Given the description of an element on the screen output the (x, y) to click on. 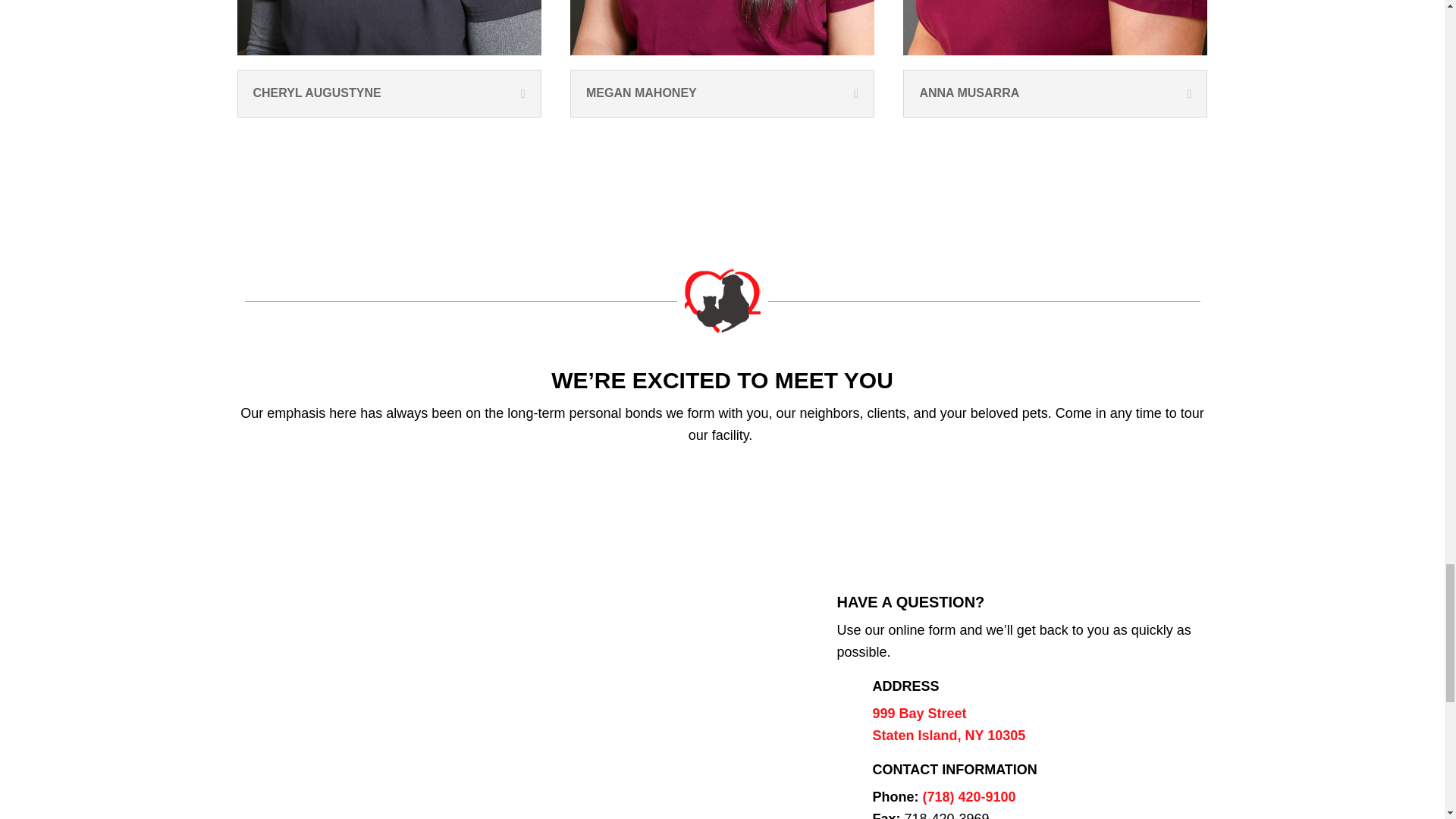
Megan Mahoney (722, 27)
Cheryl Augustyne (387, 27)
Anna Musarra (1054, 27)
